Given the description of an element on the screen output the (x, y) to click on. 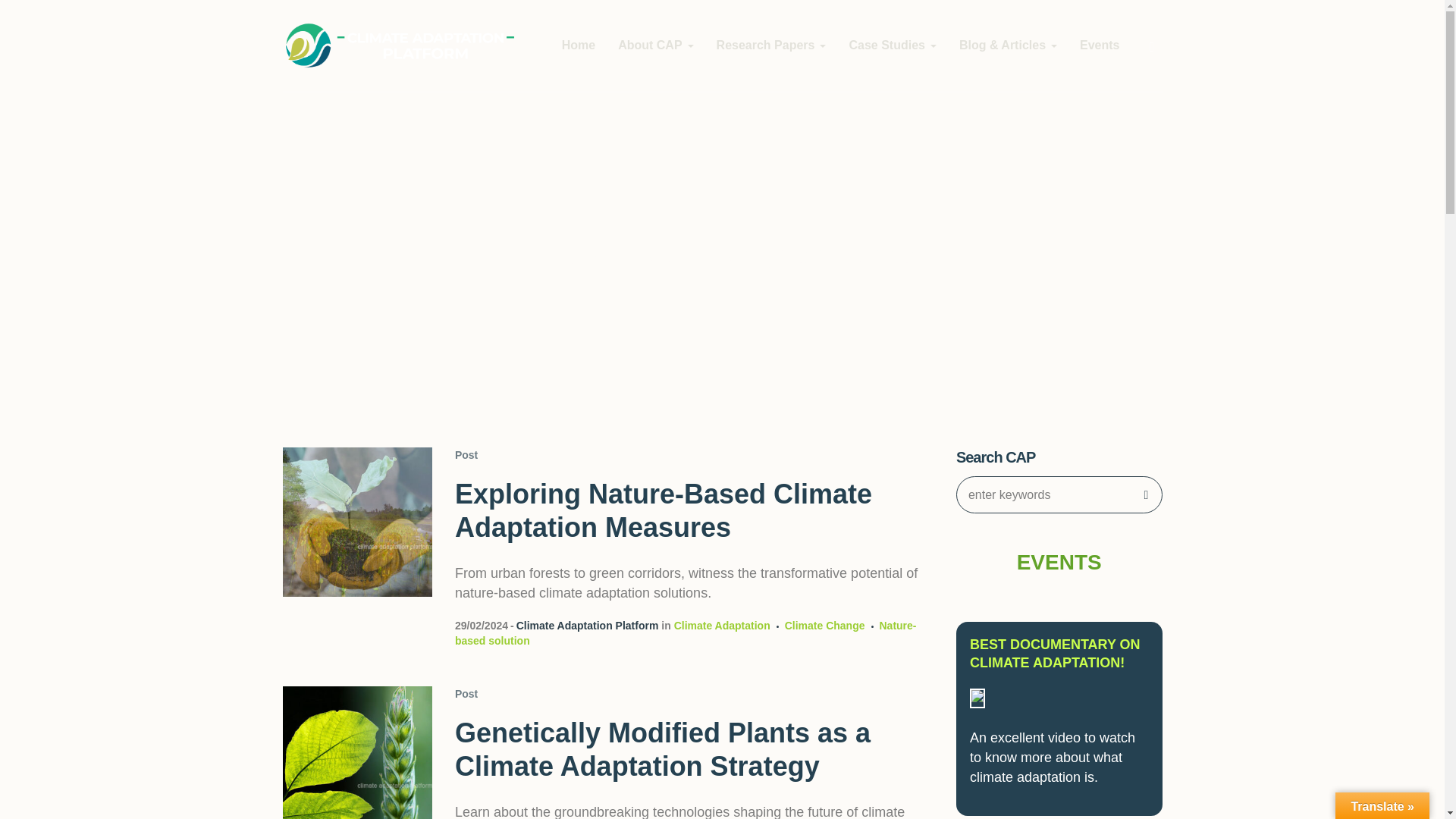
Posts by Climate Adaptation Platform (587, 625)
Research Papers (771, 45)
Genetically Modified Plants as a Climate Adaptation Strategy (356, 752)
Exploring Nature-Based Climate Adaptation Measures (356, 522)
About Climate Adaptation Platform (655, 45)
About CAP (655, 45)
Case Studies (892, 45)
Home (578, 45)
